Given the description of an element on the screen output the (x, y) to click on. 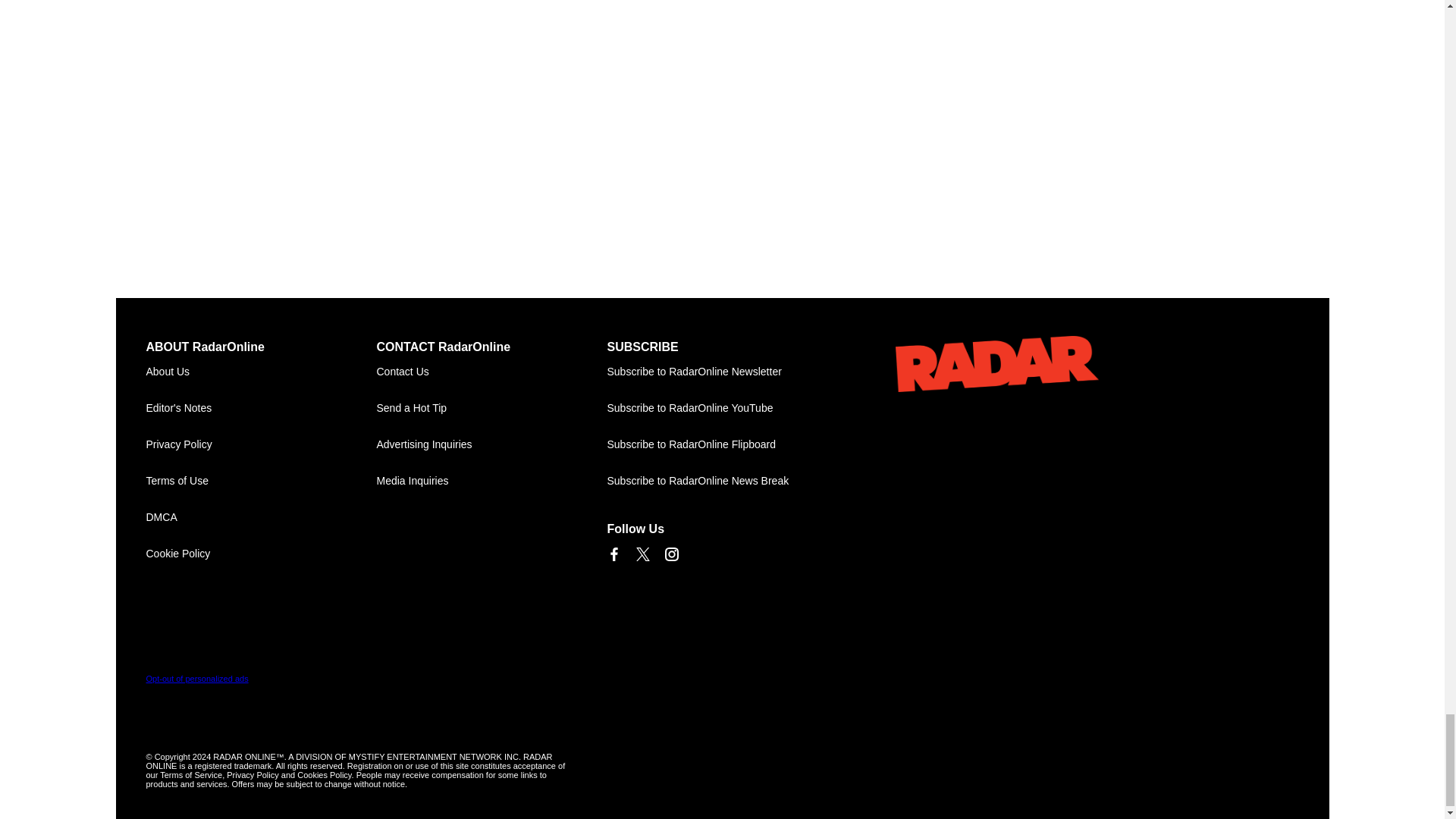
Cookie Policy (260, 554)
Subscribe to RadarOnline News Break (722, 481)
Media Inquiries (491, 481)
Contact Us (491, 371)
Link to X (641, 554)
Subscribe to RadarOnline Flipboard (722, 444)
Privacy Policy (260, 444)
Link to Instagram (670, 554)
Subscribe to RadarOnline on YouTube (722, 408)
Advertising Inquiries (491, 444)
